Given the description of an element on the screen output the (x, y) to click on. 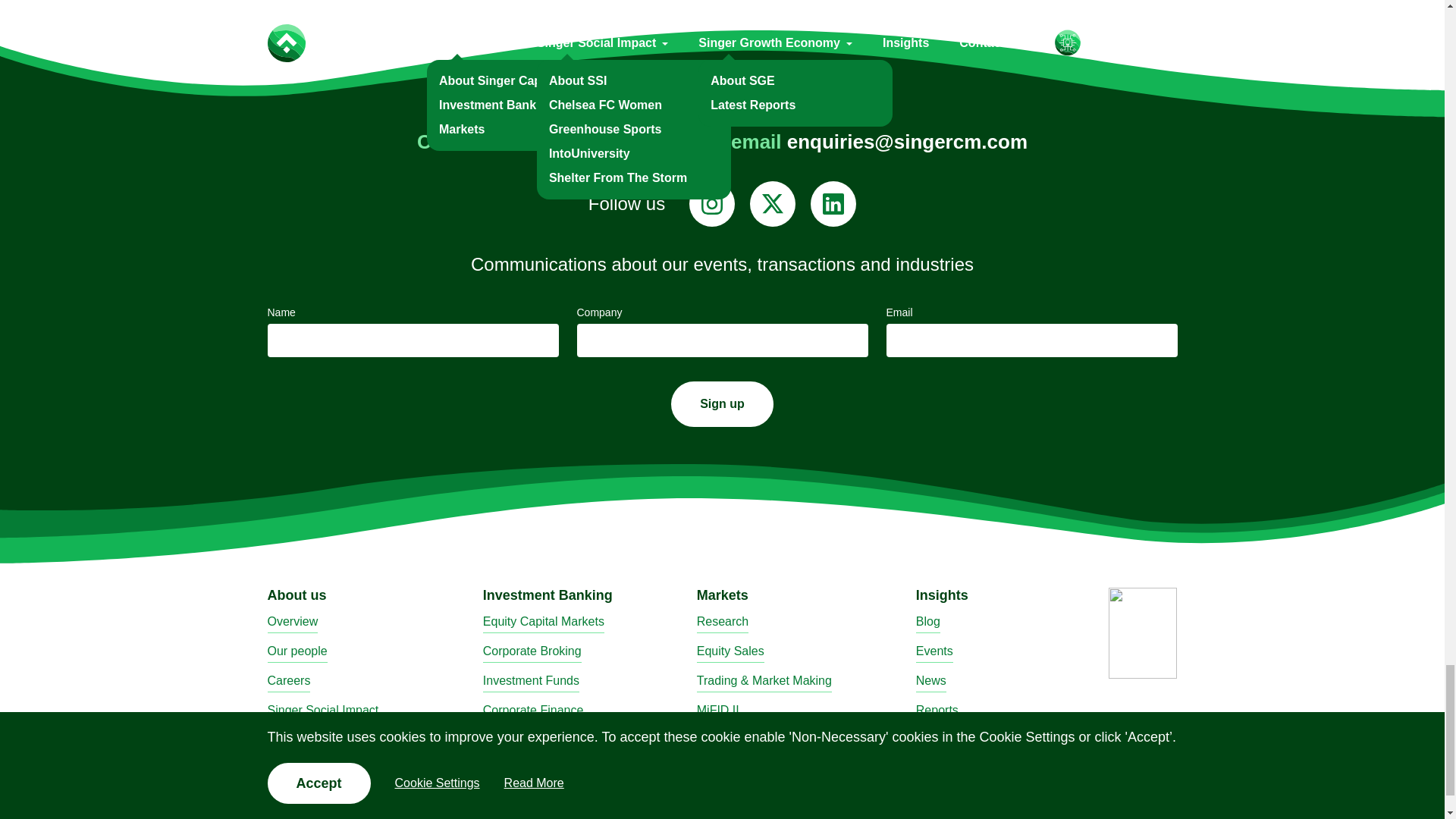
Sign up (722, 403)
Singer Growth Economy (331, 741)
Singer Social Impact (322, 711)
Careers (288, 681)
Sign up (722, 403)
Equity Capital Markets (543, 622)
Corporate Broking (531, 652)
Go to our twitter (771, 203)
Our people (296, 652)
Overview (291, 622)
Go to our instagram (711, 203)
Go to our linkedin (833, 203)
